Given the description of an element on the screen output the (x, y) to click on. 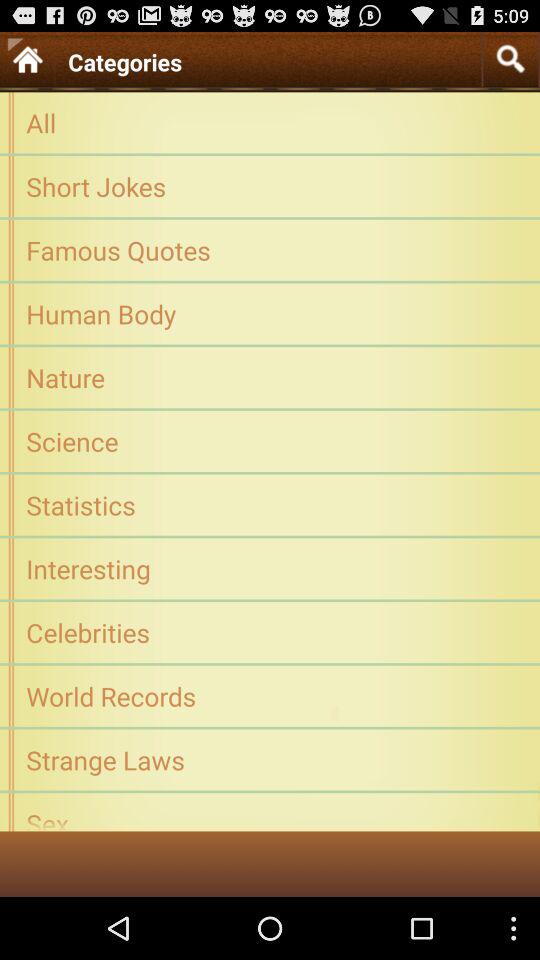
launch item above the all item (510, 58)
